Given the description of an element on the screen output the (x, y) to click on. 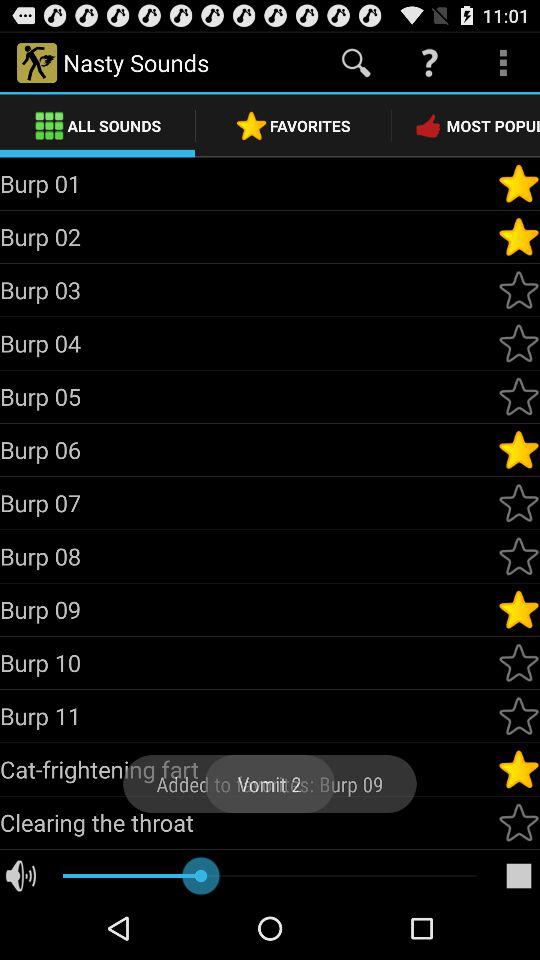
flip to the burp 08 icon (248, 556)
